Given the description of an element on the screen output the (x, y) to click on. 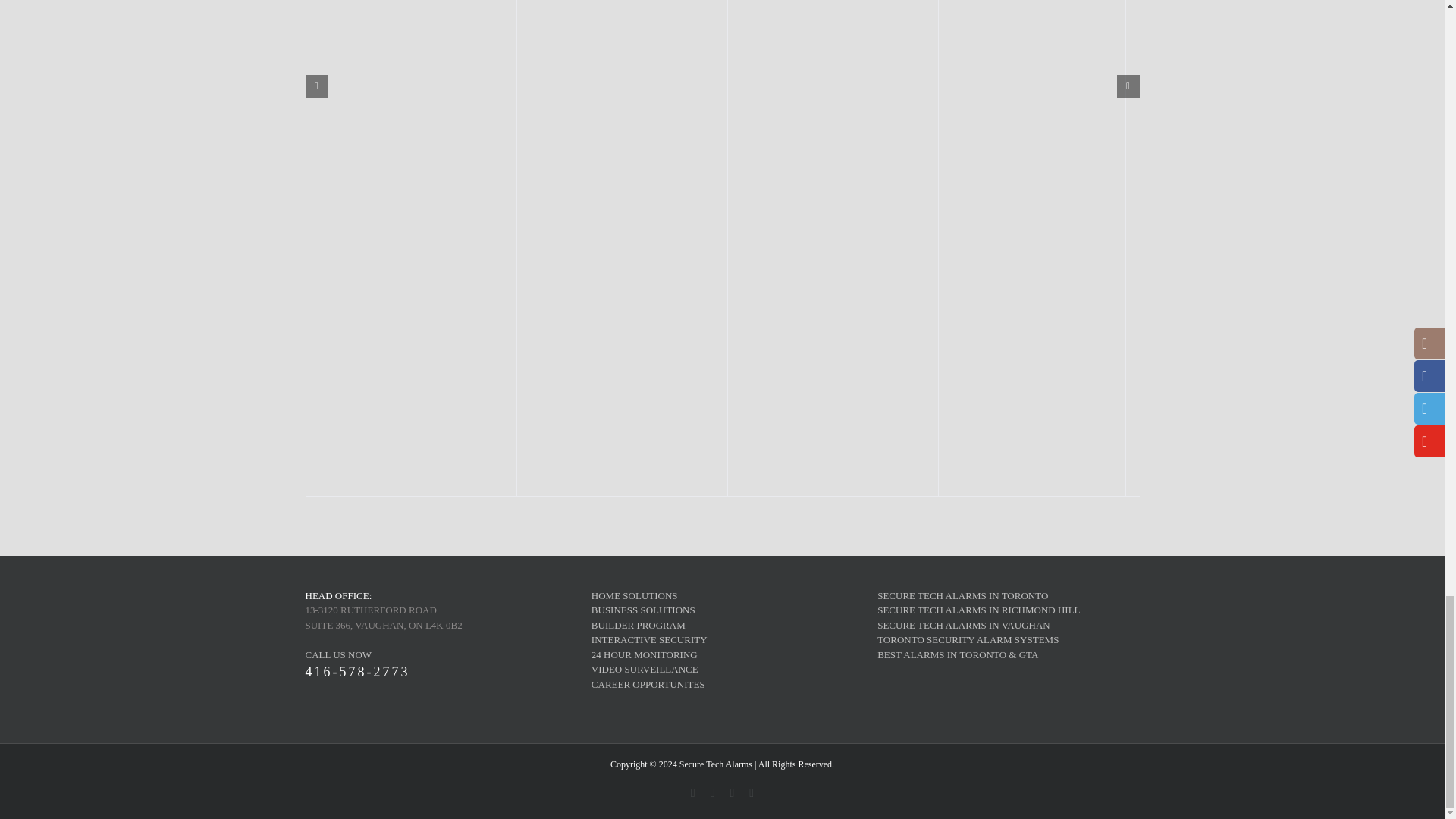
HOME SOLUTIONS (435, 679)
TORONTO SECURITY ALARM SYSTEMS (634, 595)
24 HOUR MONITORING (967, 639)
SECURE TECH ALARMS IN TORONTO (644, 654)
INTERACTIVE SECURITY (962, 595)
SECURE TECH ALARMS IN RICHMOND HILL (649, 639)
BUILDER PROGRAM (978, 609)
BUSINESS SOLUTIONS (638, 624)
CAREER OPPORTUNITES (643, 609)
VIDEO SURVEILLANCE (647, 684)
SECURE TECH ALARMS IN VAUGHAN (644, 668)
